Given the description of an element on the screen output the (x, y) to click on. 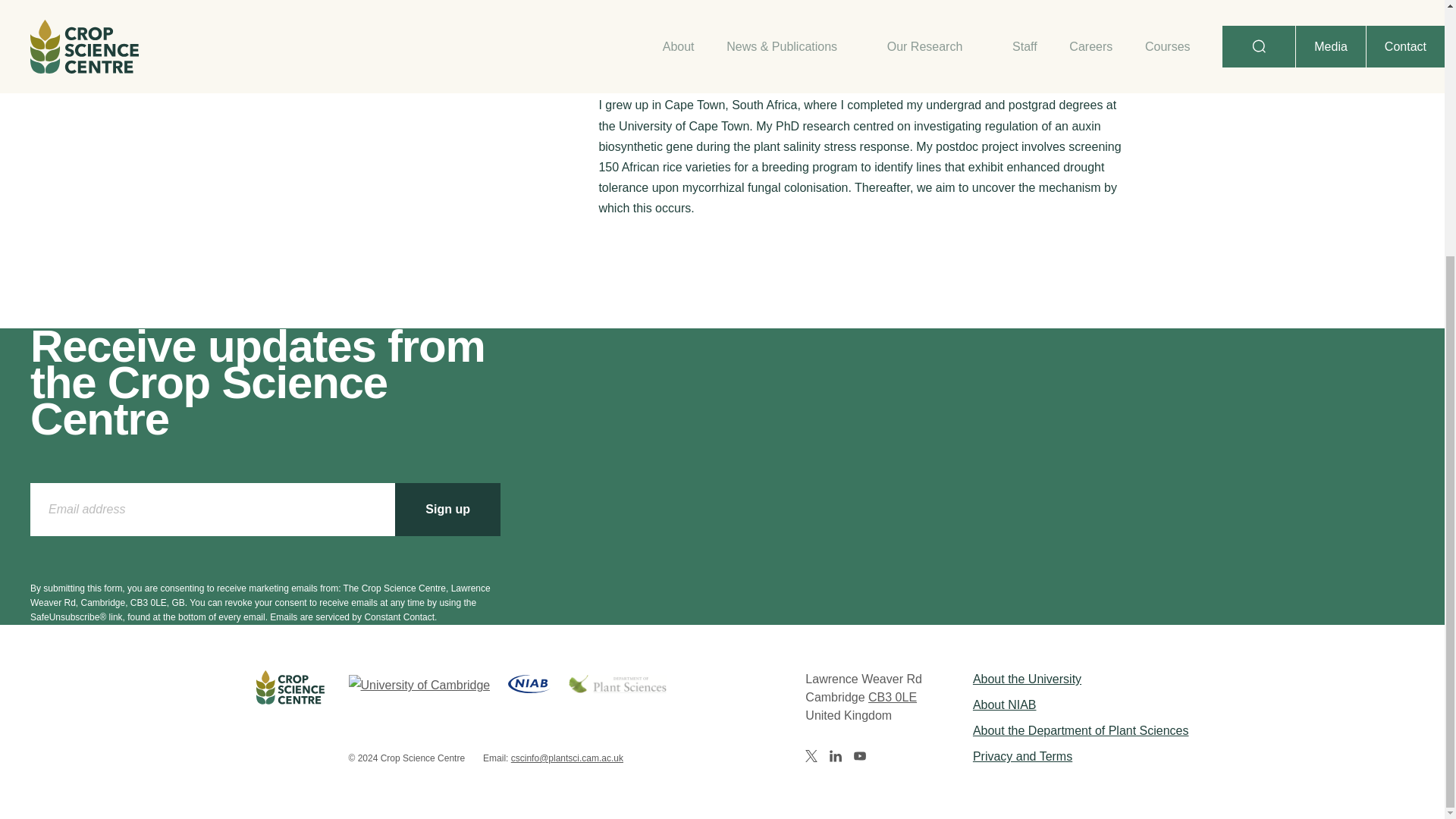
Sign up (447, 509)
Home (290, 717)
CB3 0LE (892, 697)
Sign up (447, 509)
Map of CSC location (892, 697)
CSC on LinkedIn (835, 756)
CSC on YouTube (859, 756)
